Given the description of an element on the screen output the (x, y) to click on. 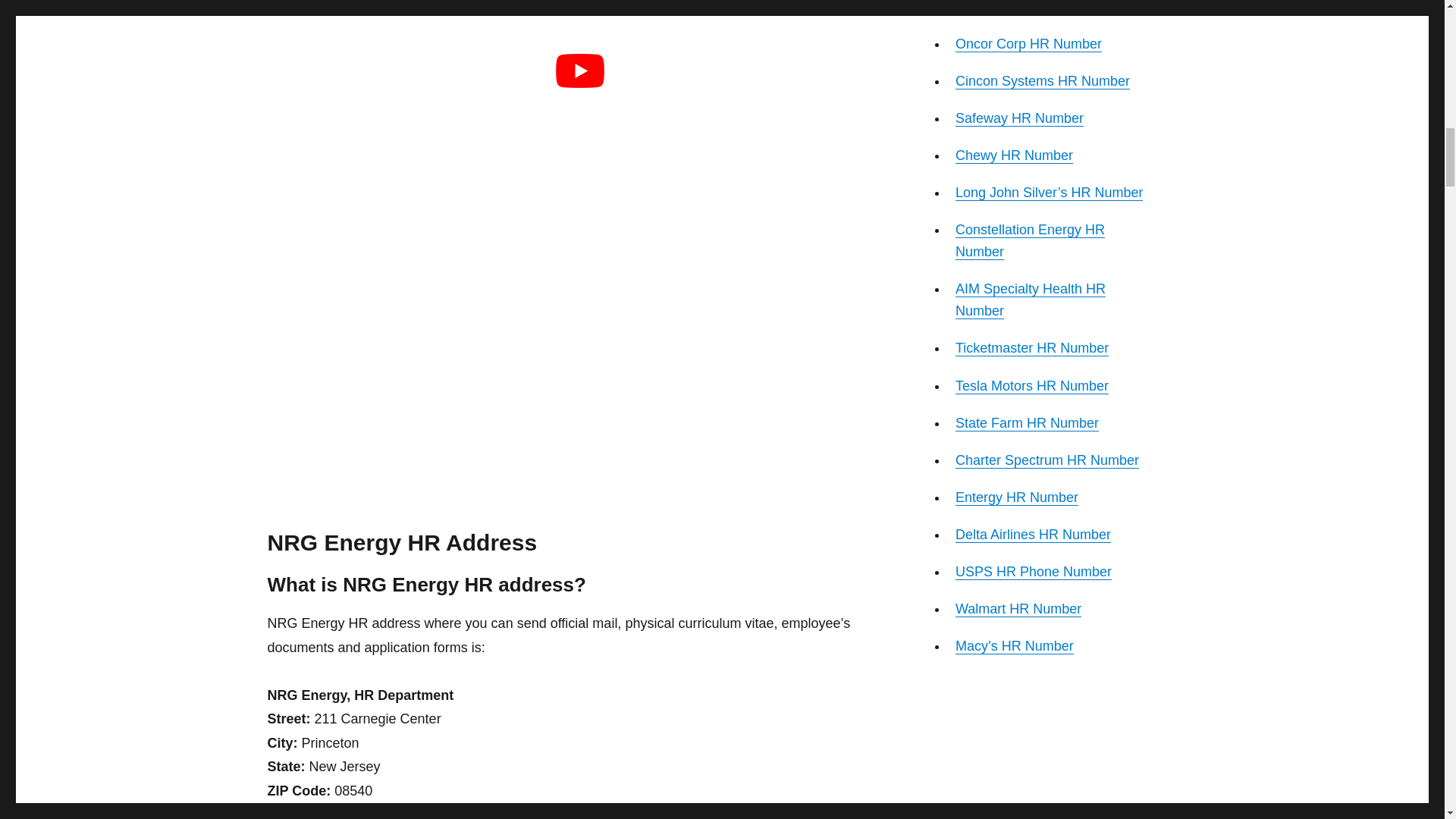
Cincon Systems HR Number (1042, 80)
Chewy HR Number (1014, 155)
Constellation Energy HR Number (1030, 240)
AIM Specialty Health HR Number (1030, 299)
Safeway HR Number (1019, 118)
Oncor Corp HR Number (1028, 43)
Turner Industries Group HR Number (1038, 7)
